Given the description of an element on the screen output the (x, y) to click on. 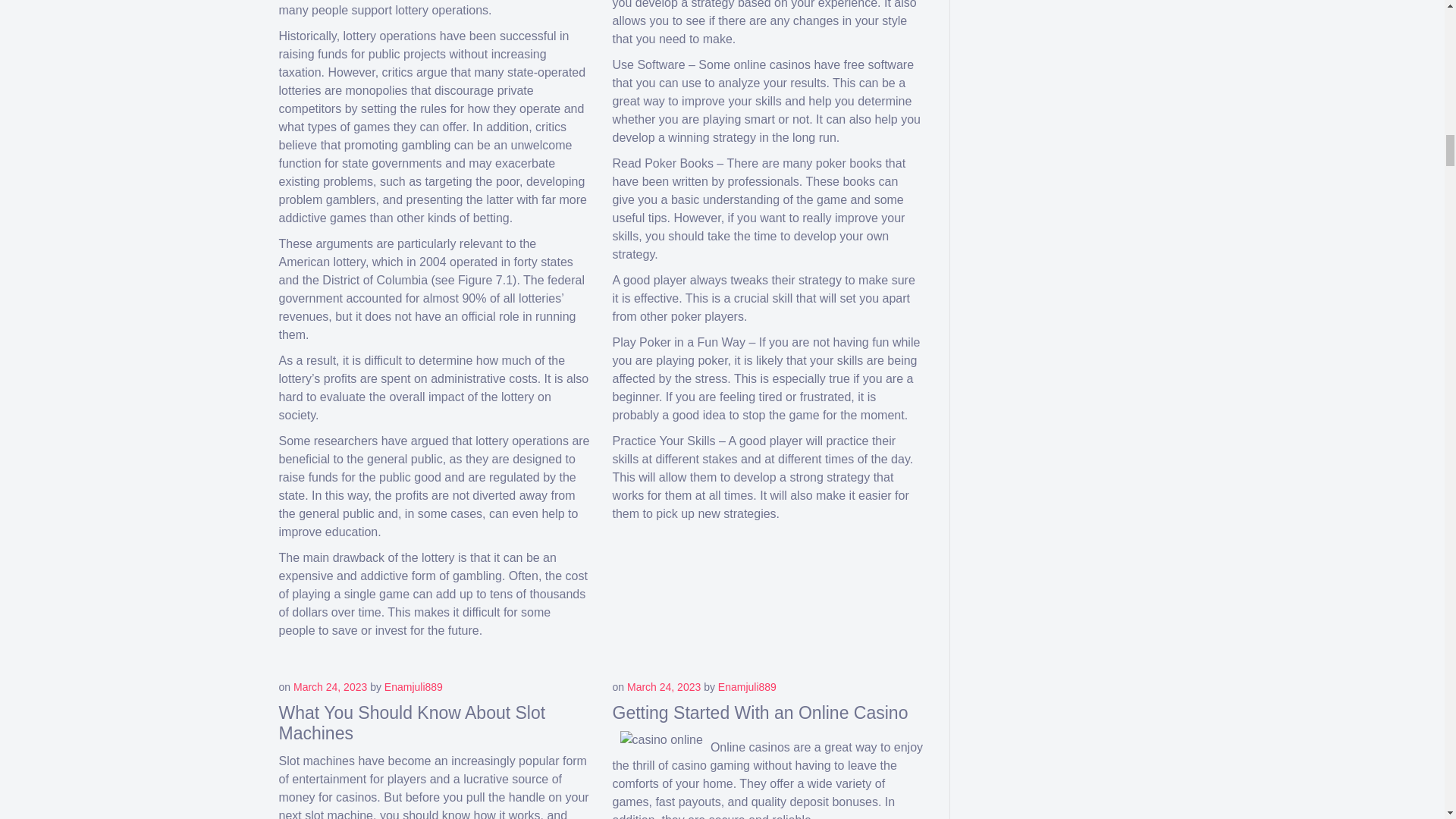
Enamjuli889 (413, 686)
Getting Started With an Online Casino (760, 712)
March 24, 2023 (663, 686)
March 24, 2023 (330, 686)
What You Should Know About Slot Machines (412, 722)
Enamjuli889 (746, 686)
